Given the description of an element on the screen output the (x, y) to click on. 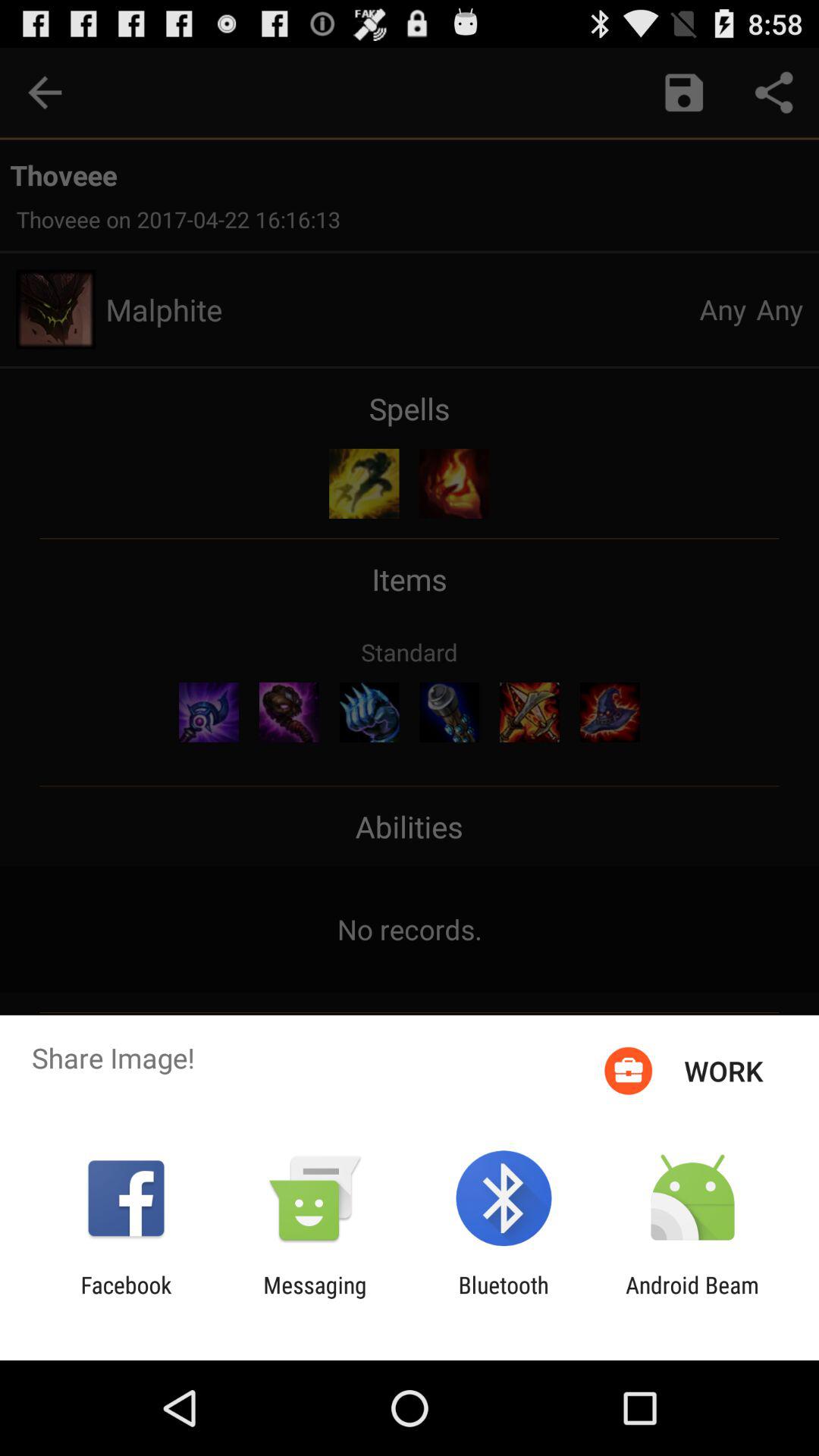
launch bluetooth item (503, 1298)
